Given the description of an element on the screen output the (x, y) to click on. 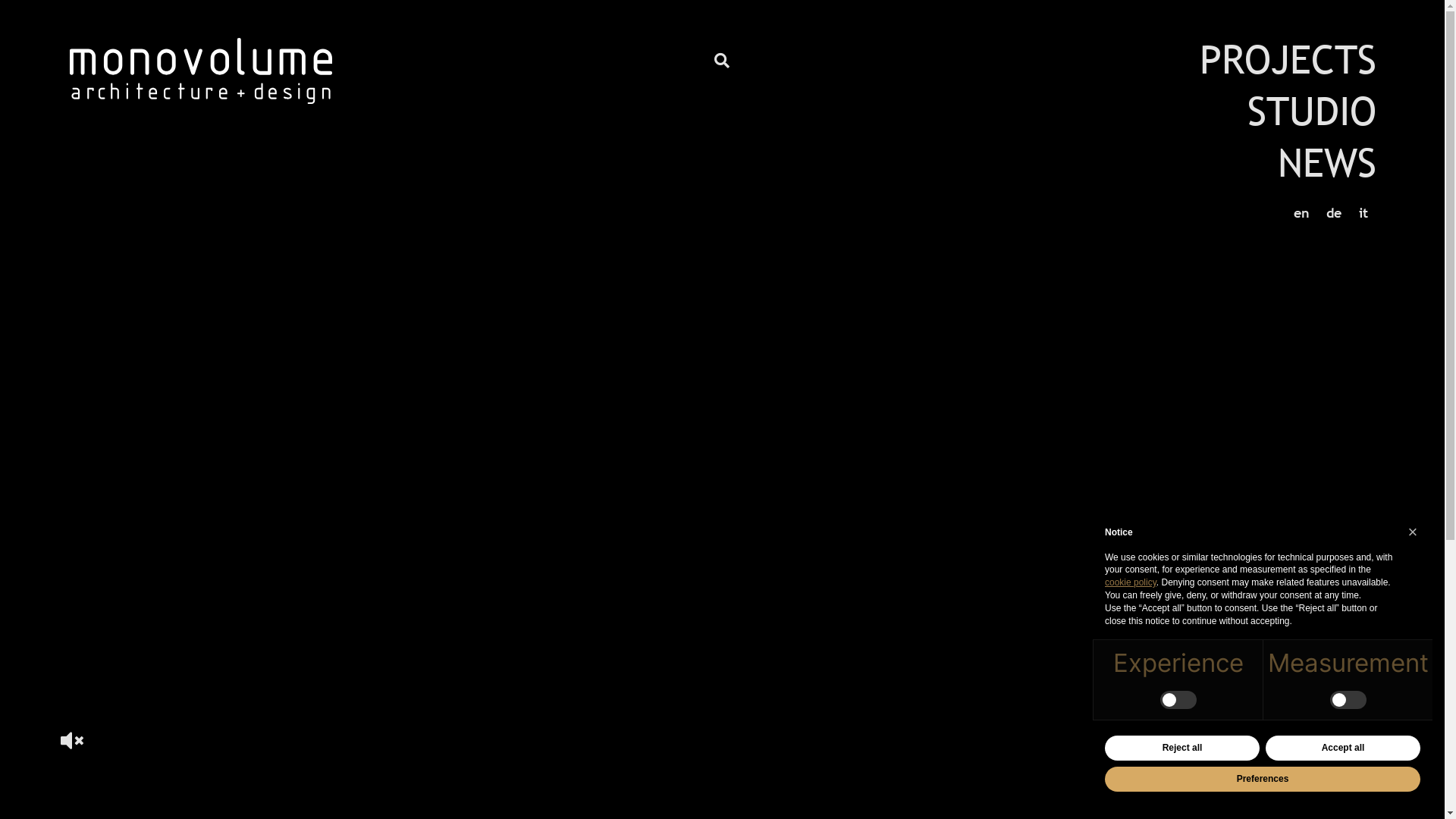
PROJECTS Element type: text (1287, 59)
cookie policy Element type: text (1130, 582)
Accept all Element type: text (1342, 747)
NEWS Element type: text (1326, 162)
Logo_Monovolume_White Element type: hover (200, 70)
de Element type: text (1333, 212)
it Element type: text (1363, 212)
STUDIO Element type: text (1311, 110)
Reject all Element type: text (1181, 747)
Preferences Element type: text (1262, 778)
en Element type: text (1301, 212)
